Given the description of an element on the screen output the (x, y) to click on. 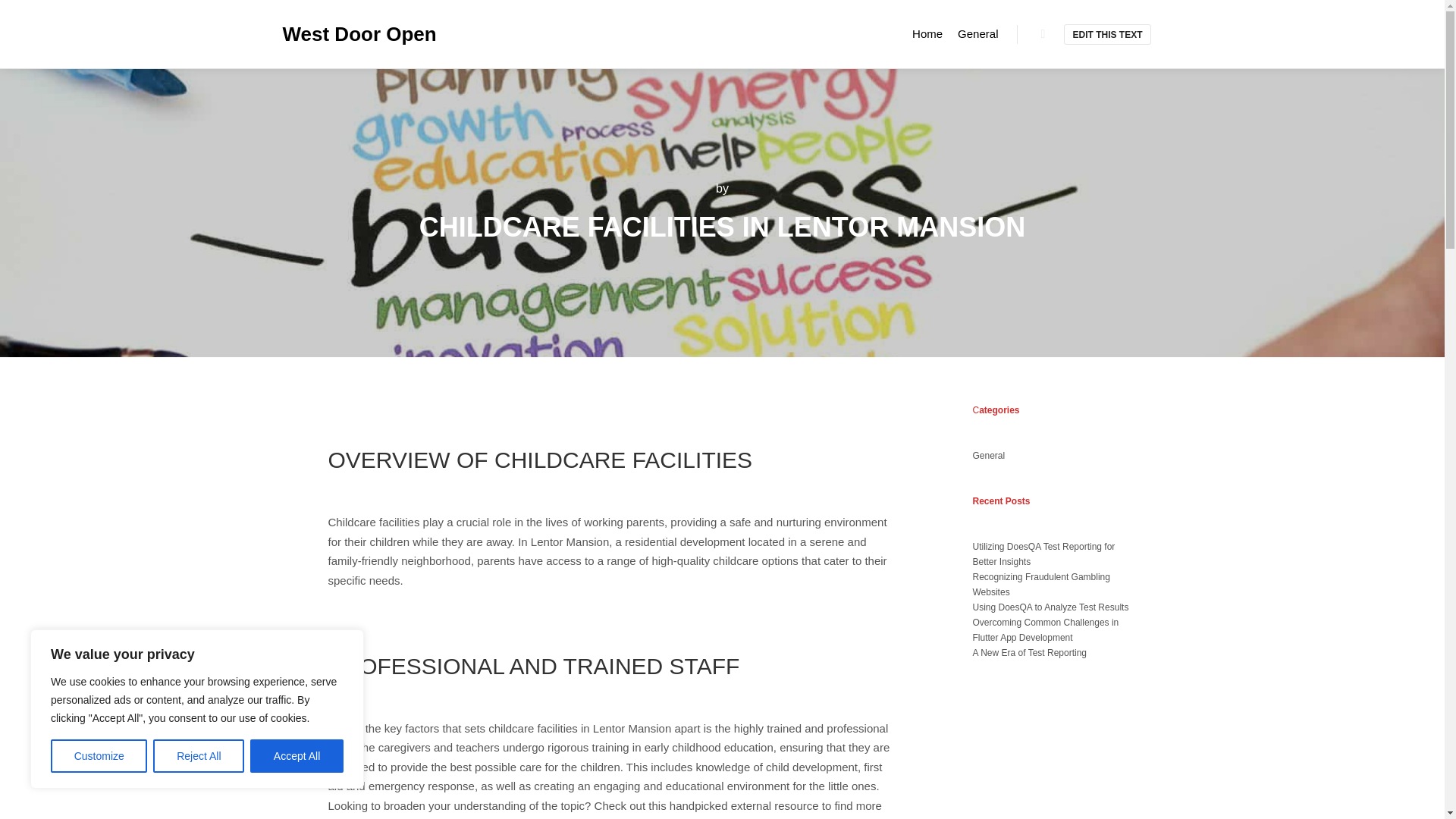
West Door Open (357, 33)
Customize (98, 756)
Recognizing Fraudulent Gambling Websites (1040, 584)
Using DoesQA to Analyze Test Results (1050, 606)
General (988, 455)
Search (1043, 34)
Search (1043, 34)
Reject All (198, 756)
West Door Open (357, 33)
A New Era of Test Reporting (1029, 652)
